Given the description of an element on the screen output the (x, y) to click on. 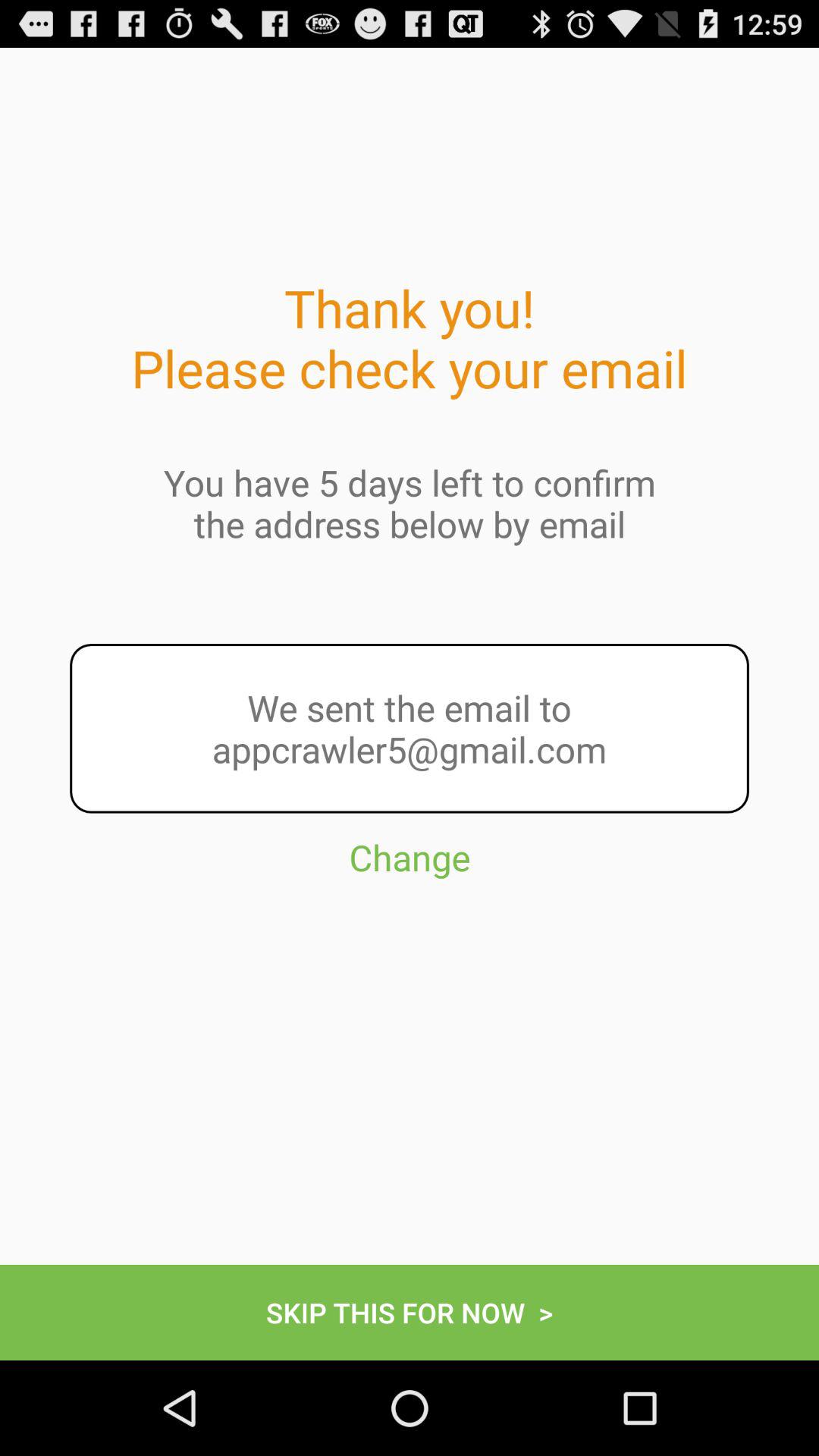
open the change item (409, 926)
